Given the description of an element on the screen output the (x, y) to click on. 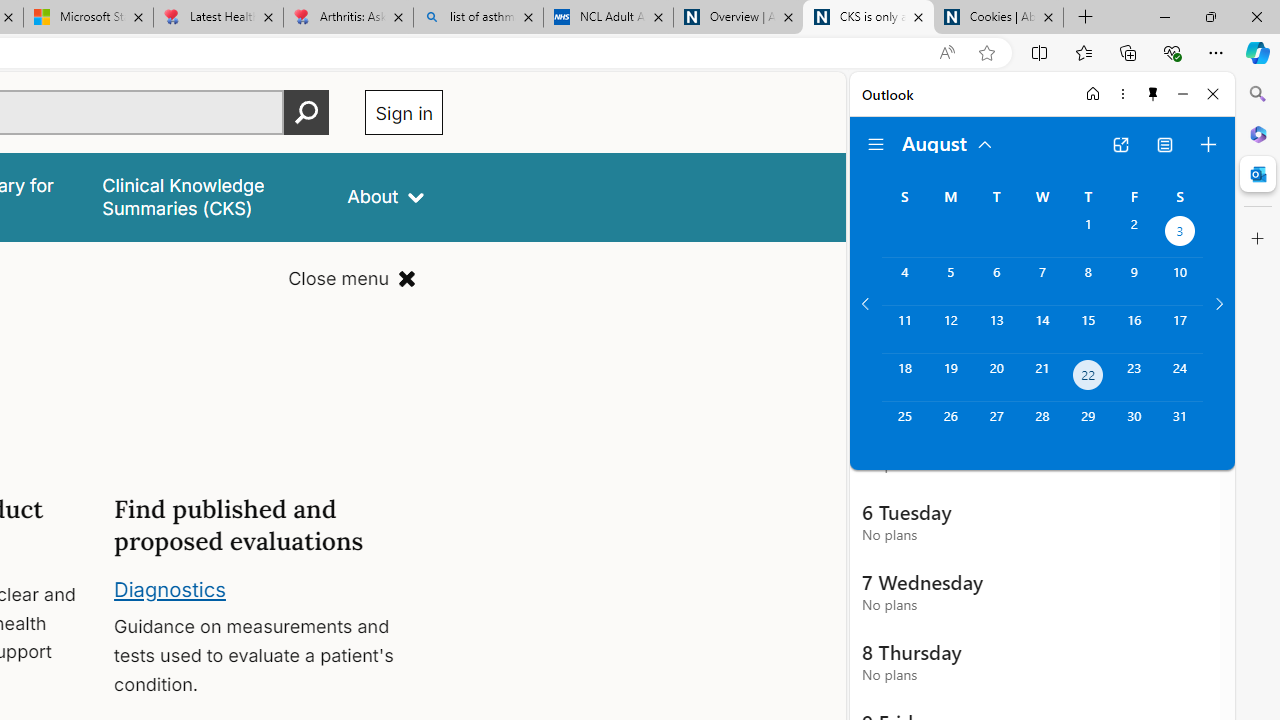
Monday, August 5, 2024.  (950, 281)
Wednesday, August 7, 2024.  (1042, 281)
Monday, August 19, 2024.  (950, 377)
View Switcher. Current view is Agenda view (1165, 144)
Saturday, August 10, 2024.  (1180, 281)
Wednesday, August 28, 2024.  (1042, 425)
CKS is only available in the UK | NICE (868, 17)
